Given the description of an element on the screen output the (x, y) to click on. 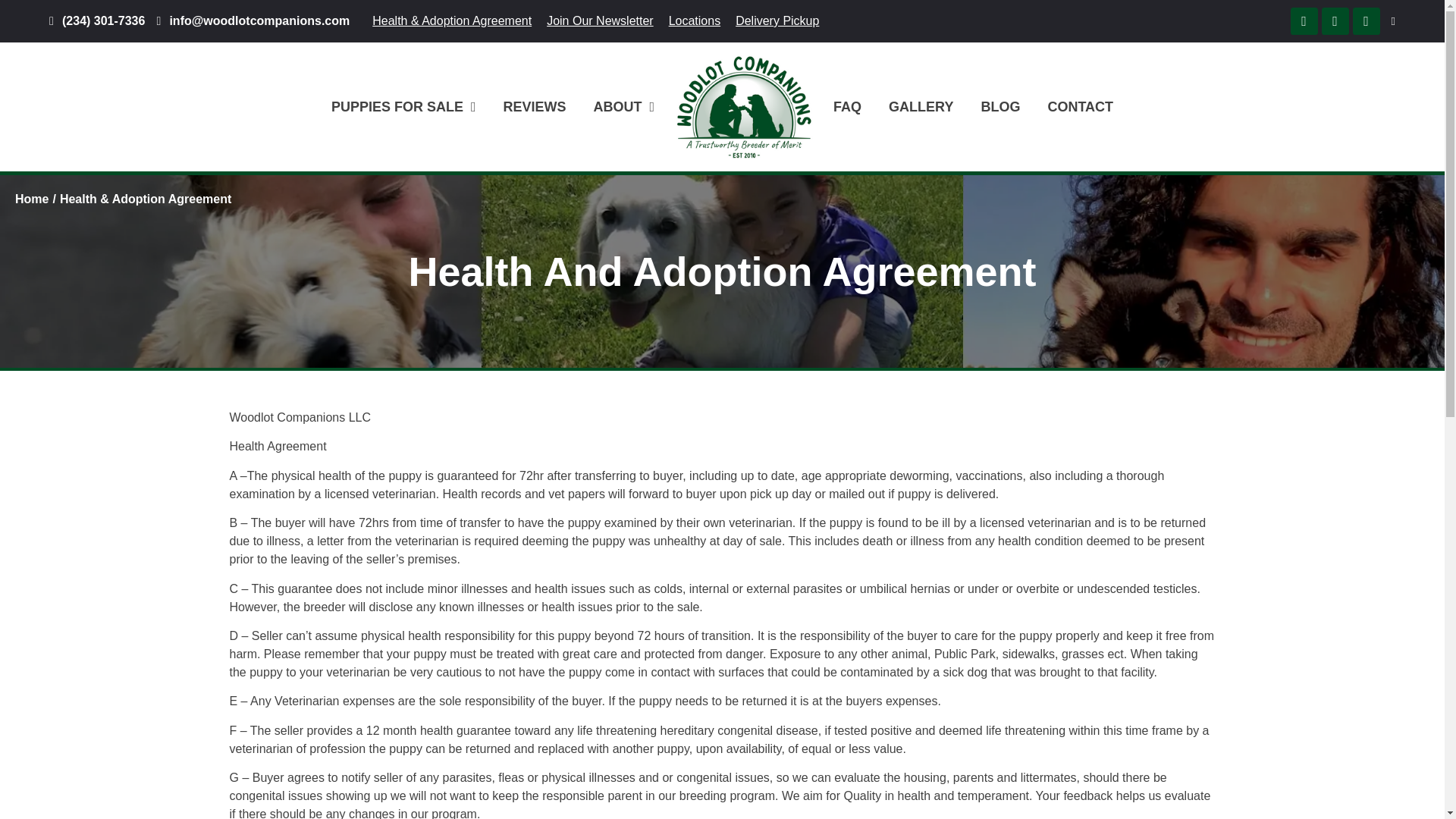
PUPPIES FOR SALE (403, 106)
ABOUT (623, 106)
REVIEWS (534, 106)
Delivery Pickup (776, 20)
Join Our Newsletter (600, 20)
Locations (694, 20)
